Given the description of an element on the screen output the (x, y) to click on. 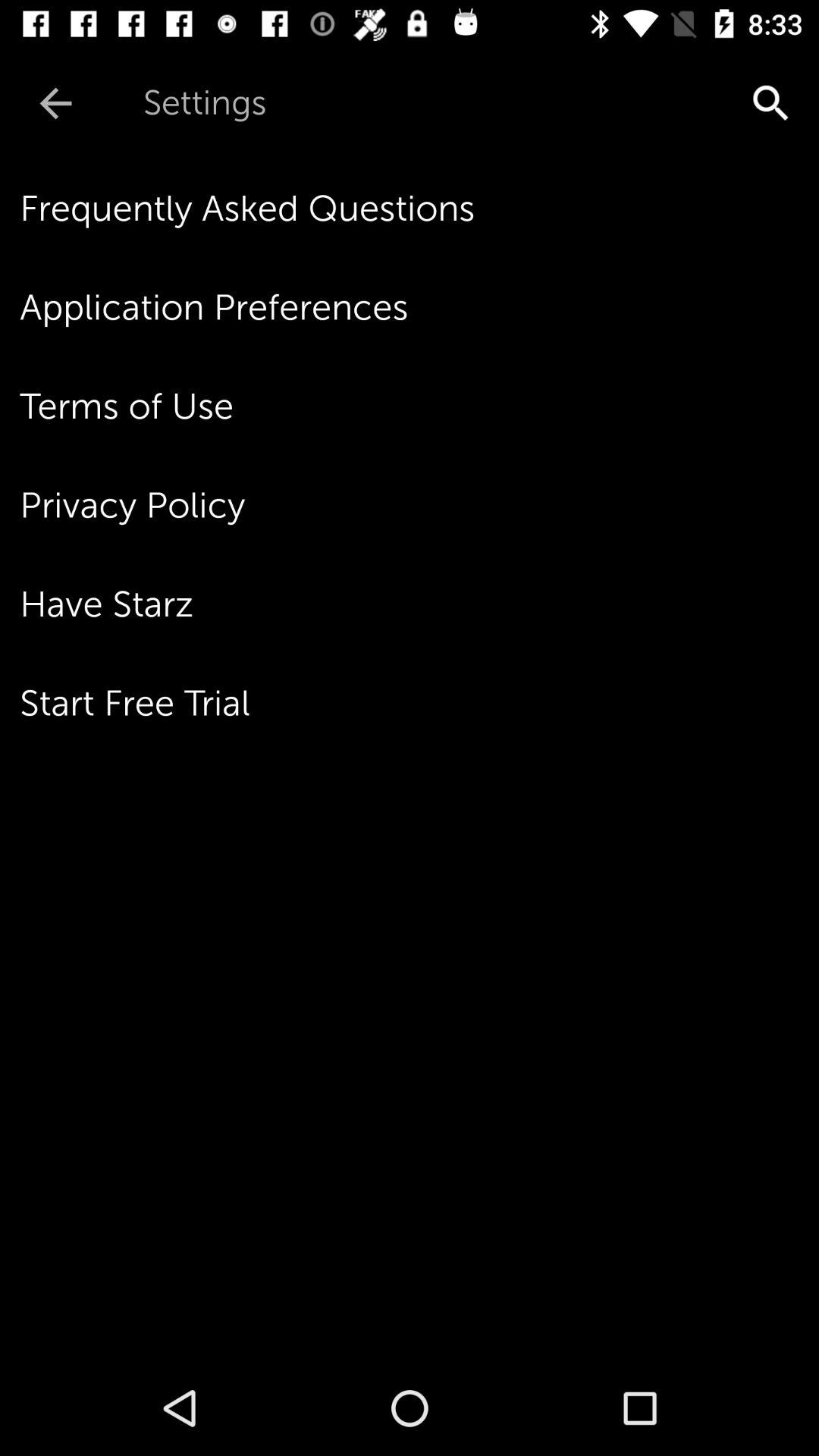
flip to have starz item (419, 604)
